Given the description of an element on the screen output the (x, y) to click on. 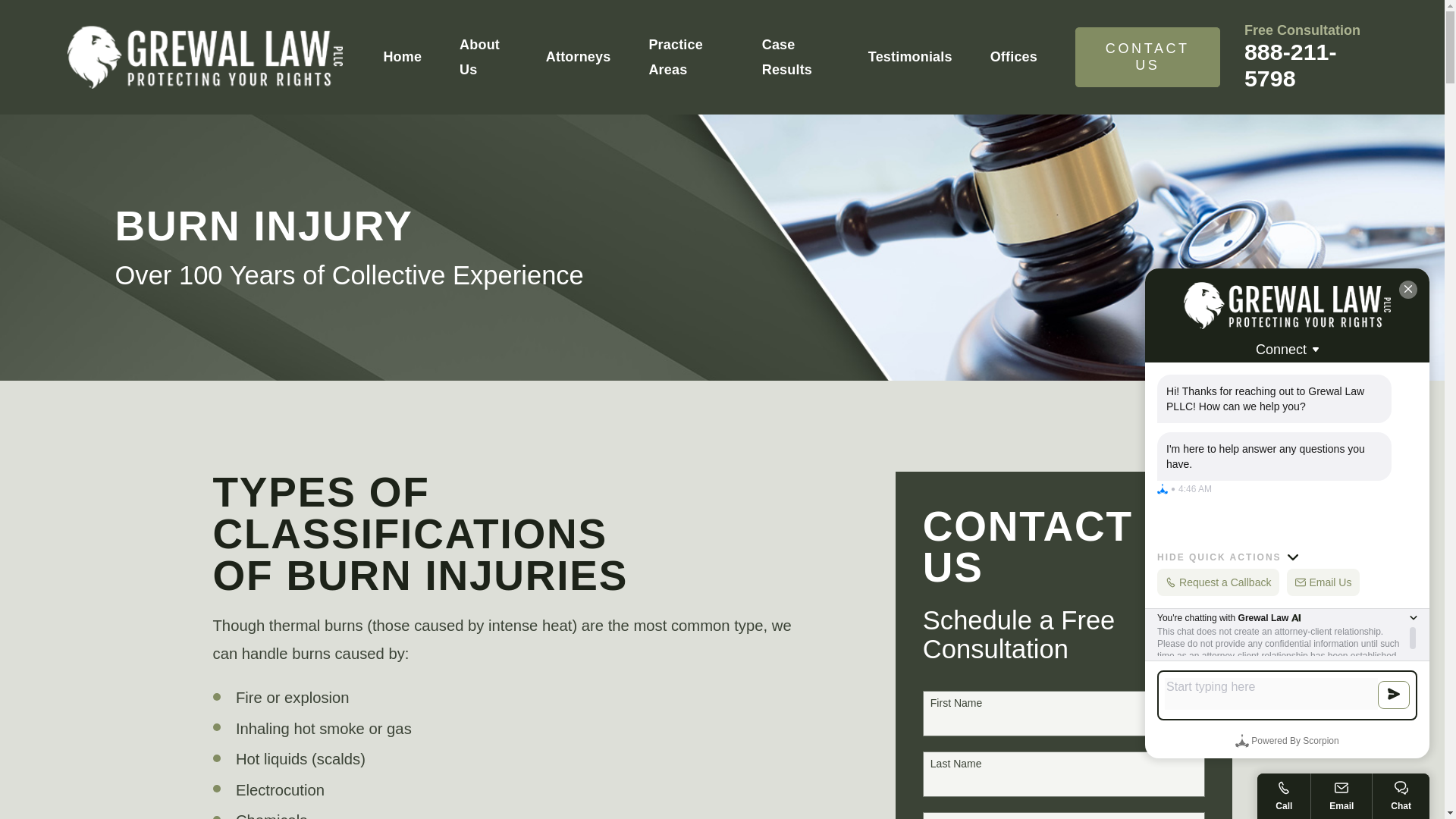
Home (191, 53)
Practice Areas (685, 56)
Testimonials (909, 56)
Case Results (795, 56)
